Given the description of an element on the screen output the (x, y) to click on. 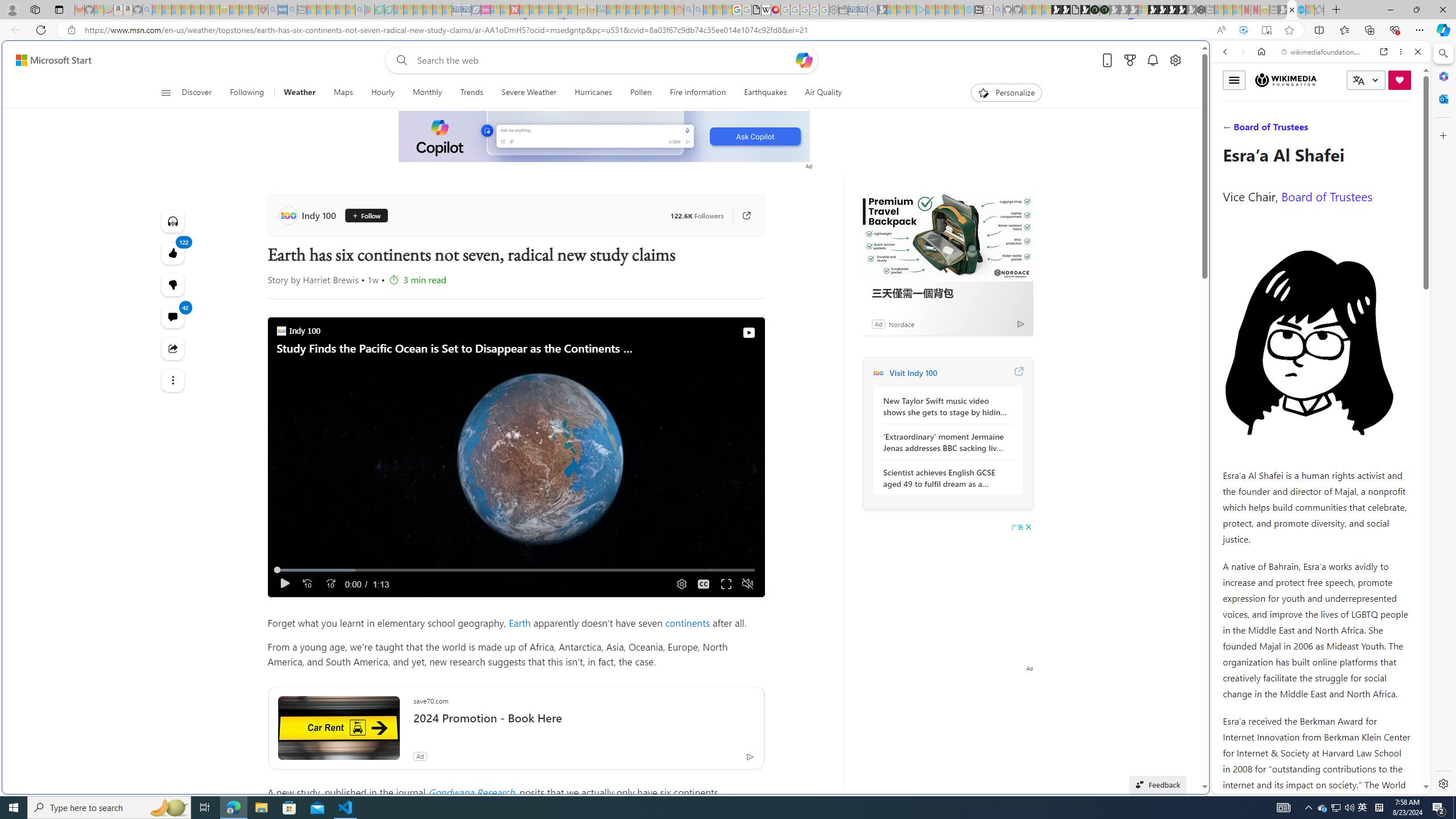
Bluey: Let's Play! - Apps on Google Play - Sleeping (369, 9)
Enter your search term (603, 59)
Class: at-item (172, 380)
Fullscreen (726, 583)
View on Watch (748, 332)
Future Focus Report 2024 (1103, 9)
